Given the description of an element on the screen output the (x, y) to click on. 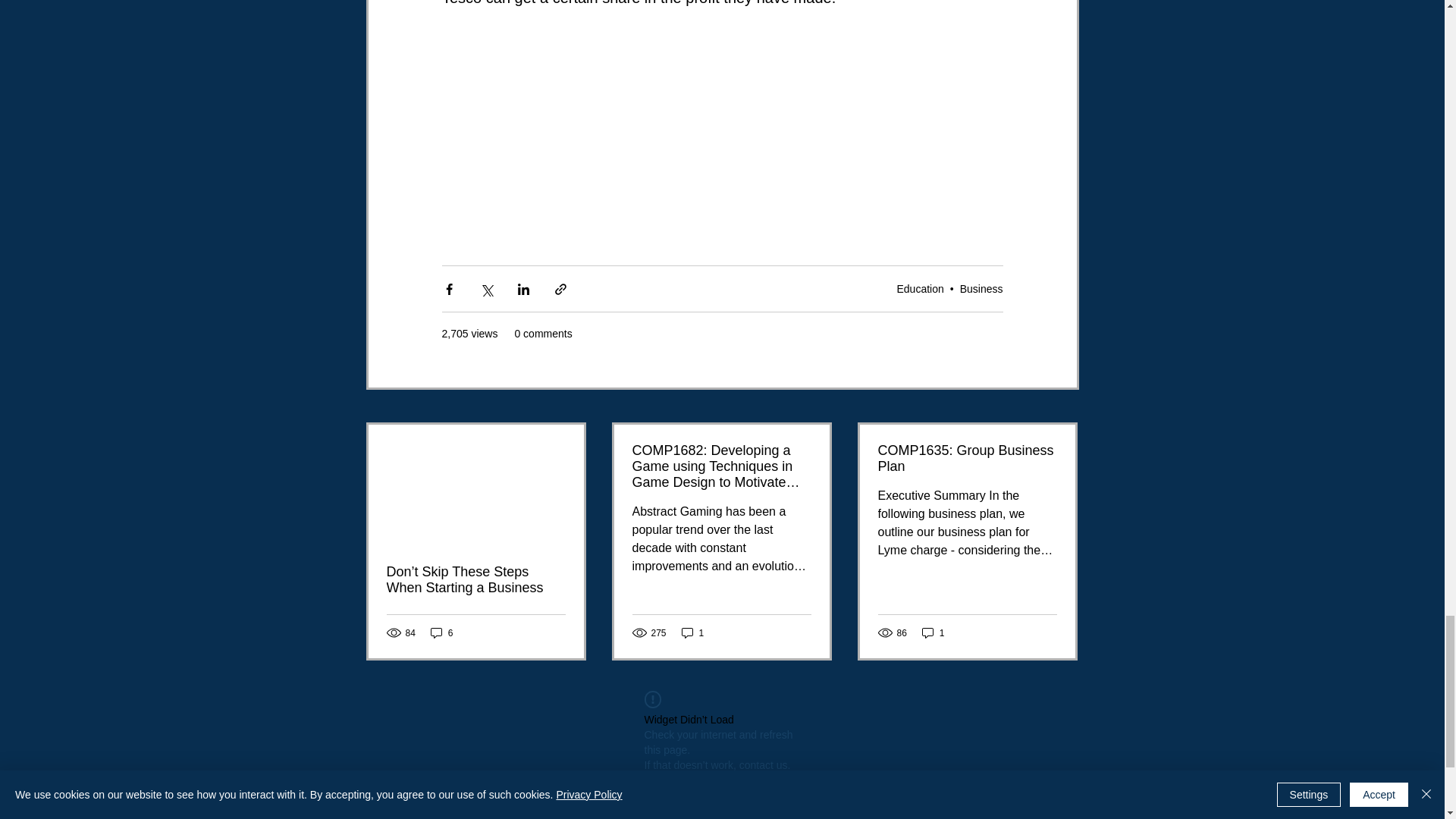
Education (919, 287)
COMP1635: Group Business Plan (967, 459)
Refresh this page (686, 780)
1 (692, 632)
6 (441, 632)
1 (933, 632)
remote content (721, 106)
Business (981, 287)
